Given the description of an element on the screen output the (x, y) to click on. 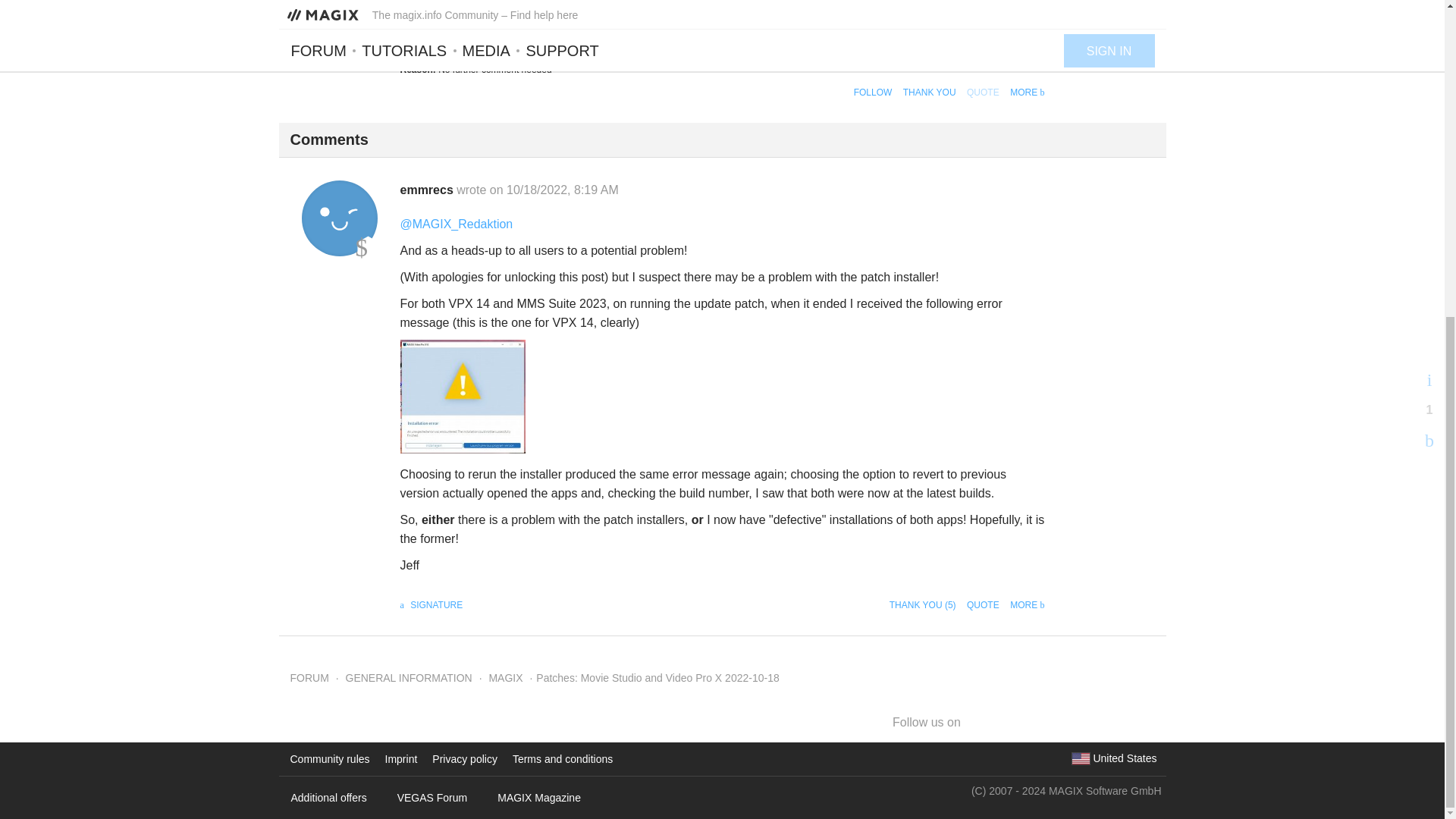
THANK YOU (929, 91)
MORE (1026, 91)
emmrecs (339, 218)
FOLLOW (872, 91)
MORE (1026, 604)
emmrecs (428, 189)
QUOTE (982, 604)
QUOTE (982, 91)
SIGNATURE (431, 604)
